Given the description of an element on the screen output the (x, y) to click on. 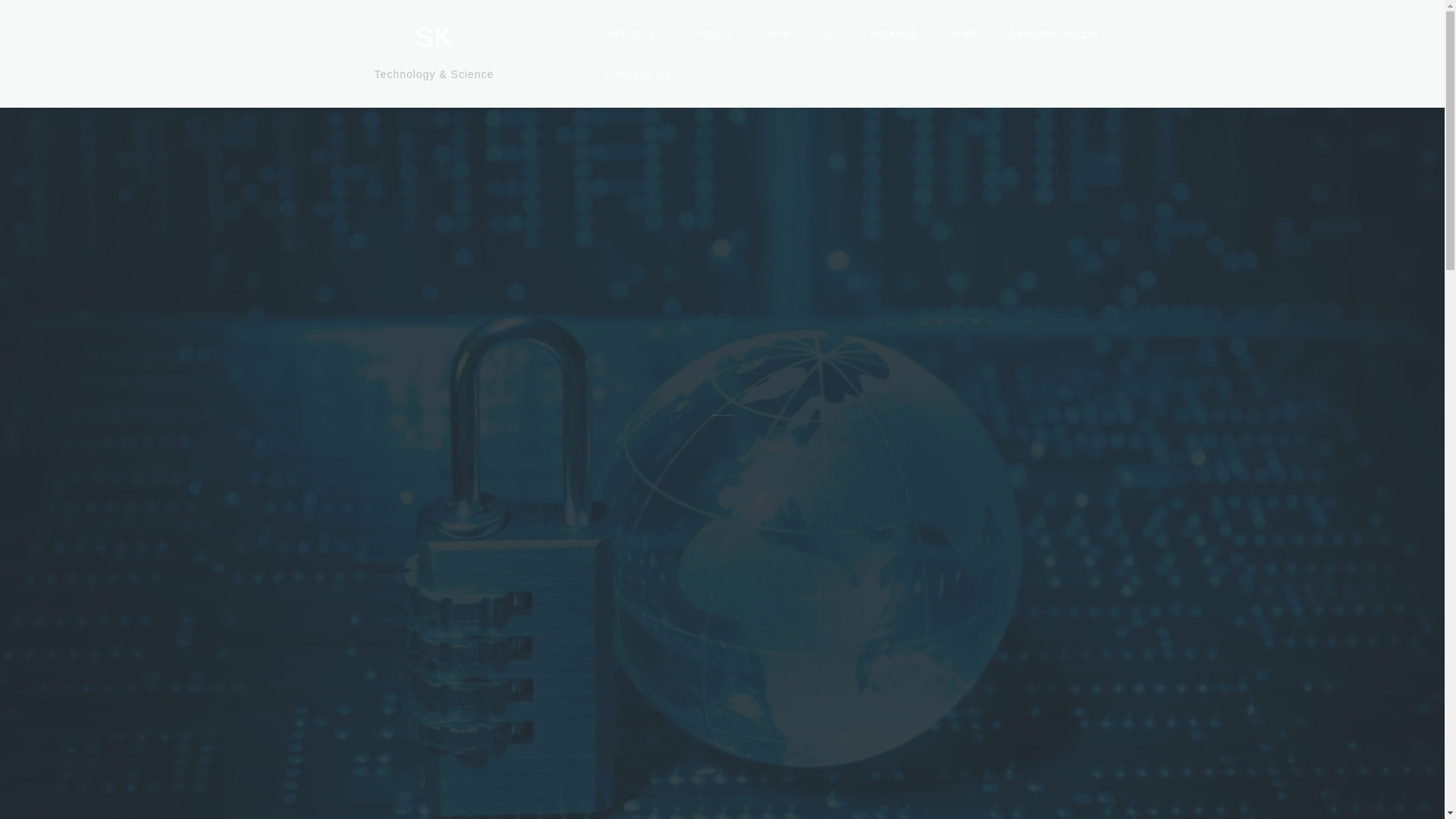
SK (433, 37)
Search (54, 20)
Contact Us (637, 73)
General Article (1053, 33)
Definition (633, 33)
Future (713, 33)
Tech (963, 33)
New (777, 33)
Science (894, 33)
